Given the description of an element on the screen output the (x, y) to click on. 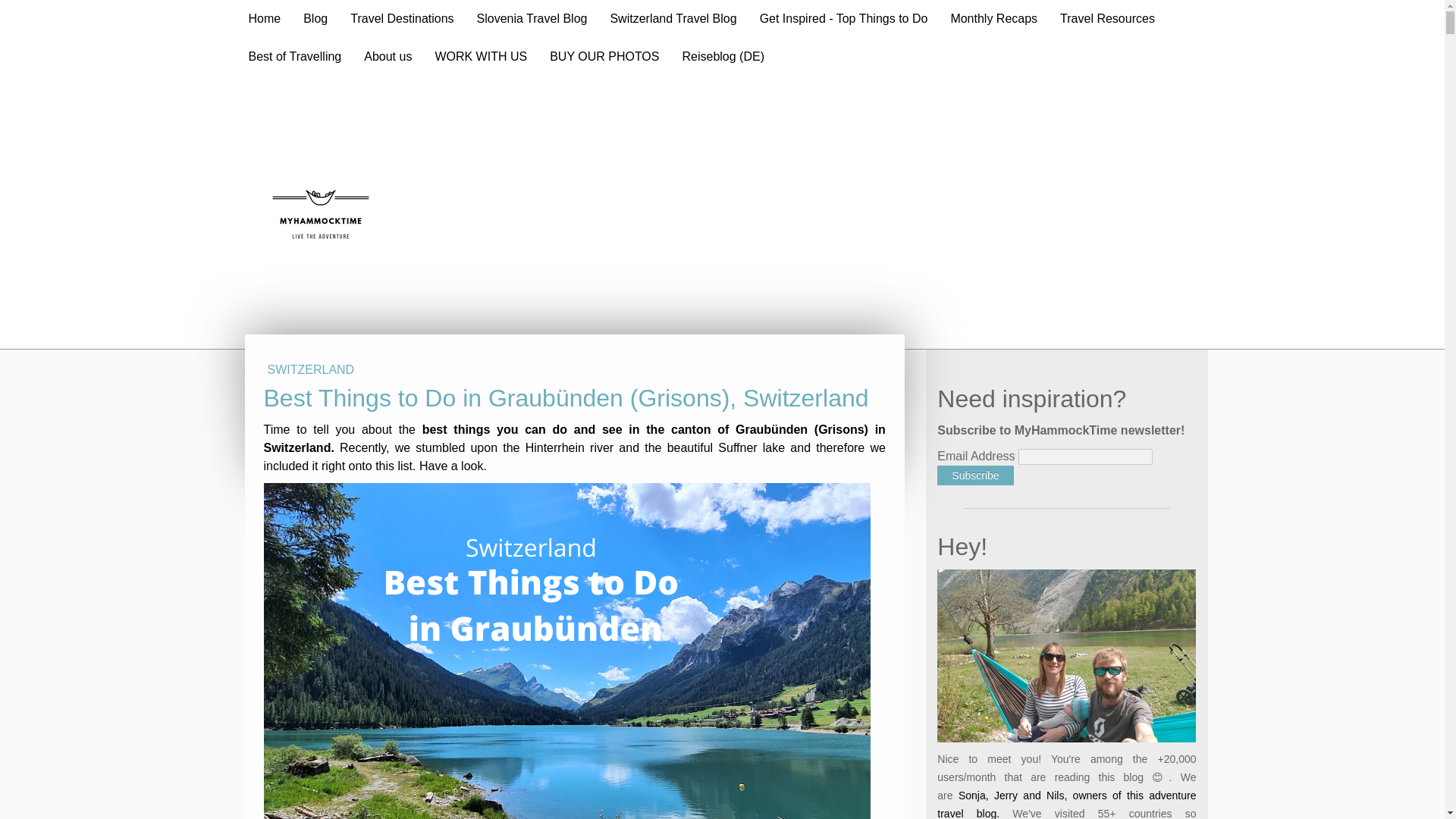
Blog (315, 18)
What to Do in Ticino, Switzerland - Insider Tips (421, 391)
Travel resources (1017, 778)
Home (263, 18)
Subscribe (975, 349)
